Given the description of an element on the screen output the (x, y) to click on. 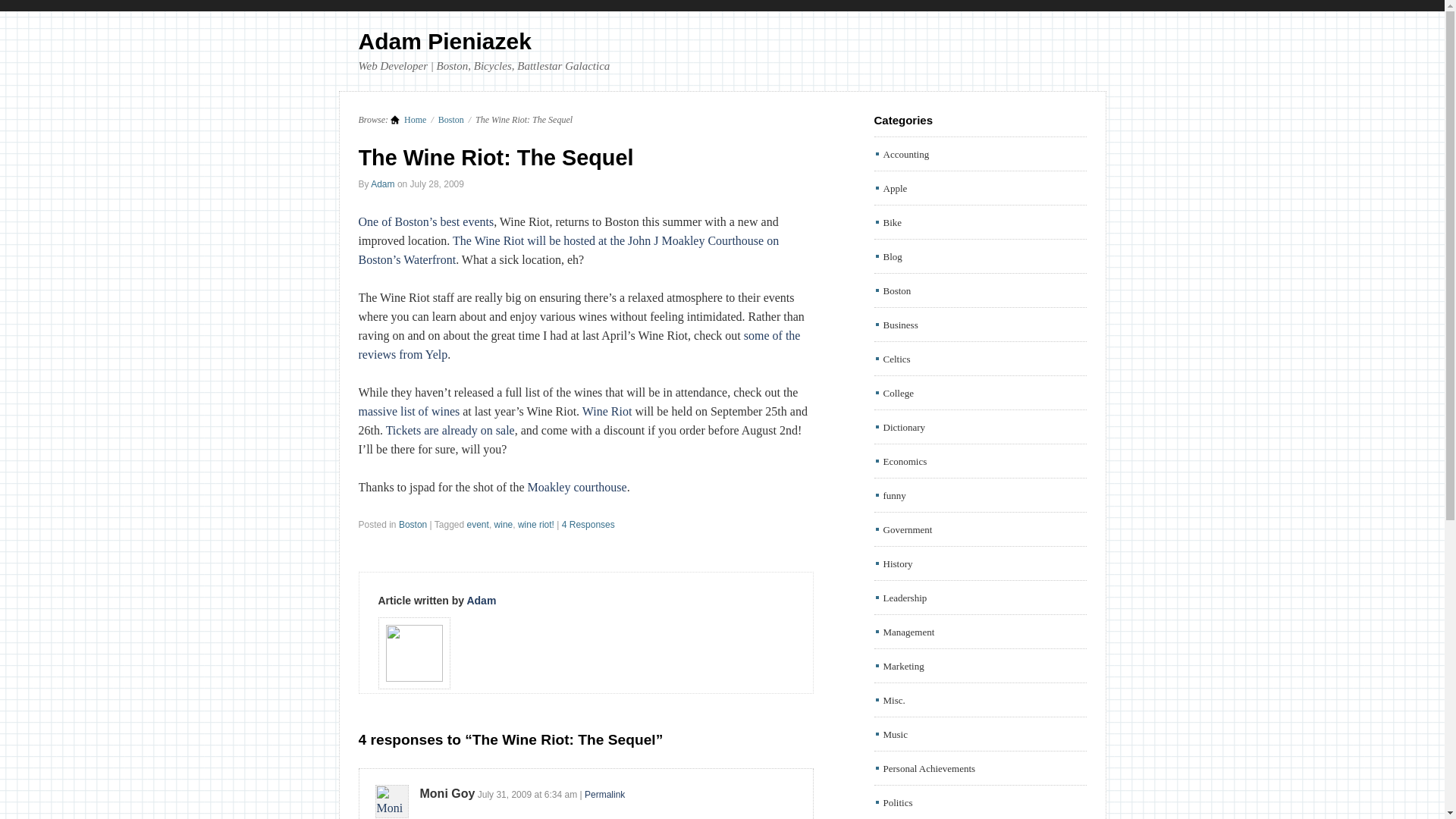
Adam Pieniazek (444, 41)
Boston (896, 290)
Adam (382, 184)
massive list of wines (409, 410)
Celtics (896, 358)
Comment on The Wine Riot: The Sequel (588, 524)
some of the reviews from Yelp (578, 345)
The Wine Riot: The Sequel (495, 157)
Moni Goy (448, 793)
Adam Pieniazek (444, 41)
